Given the description of an element on the screen output the (x, y) to click on. 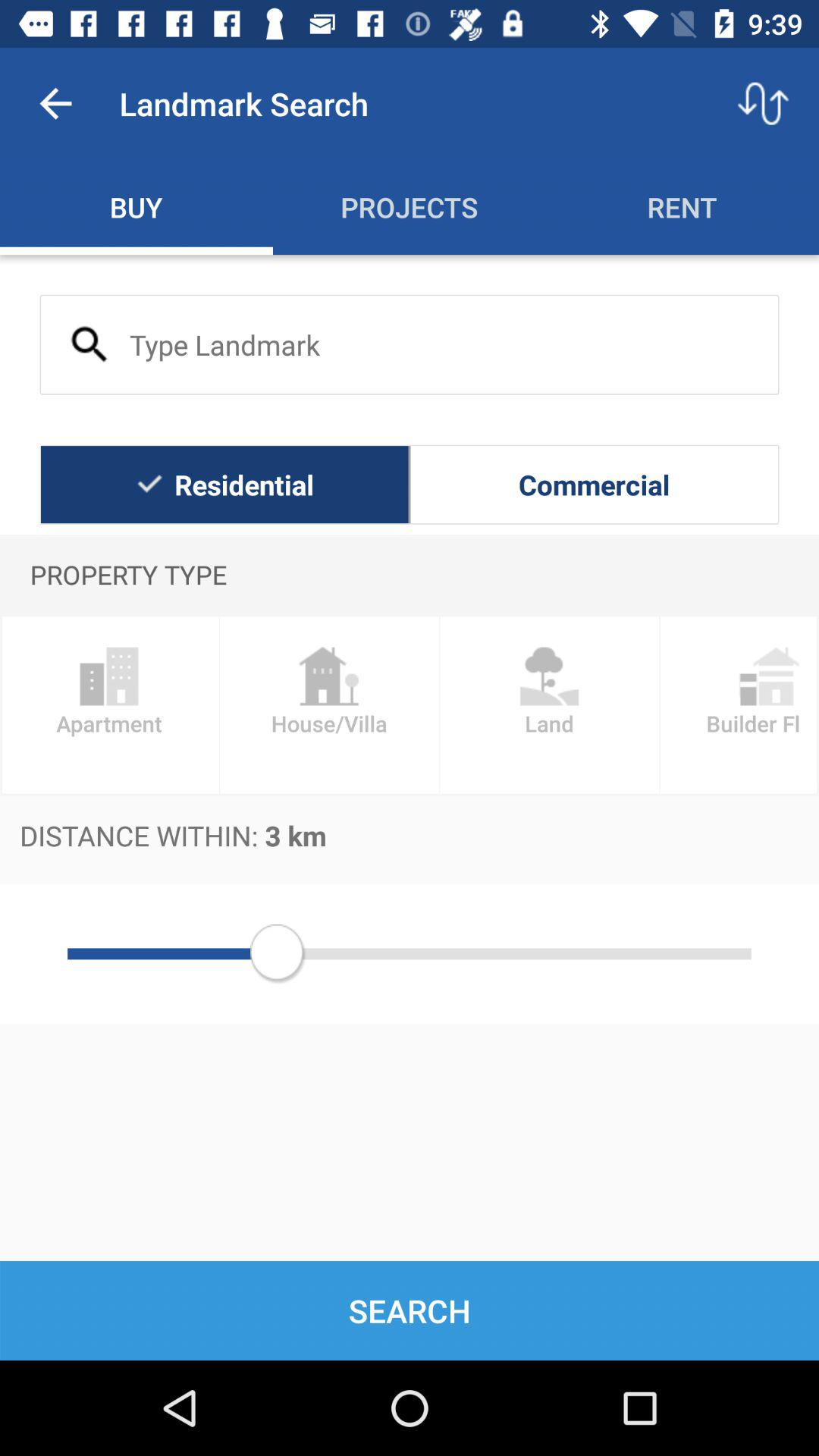
select the icon above the buy icon (55, 103)
